Given the description of an element on the screen output the (x, y) to click on. 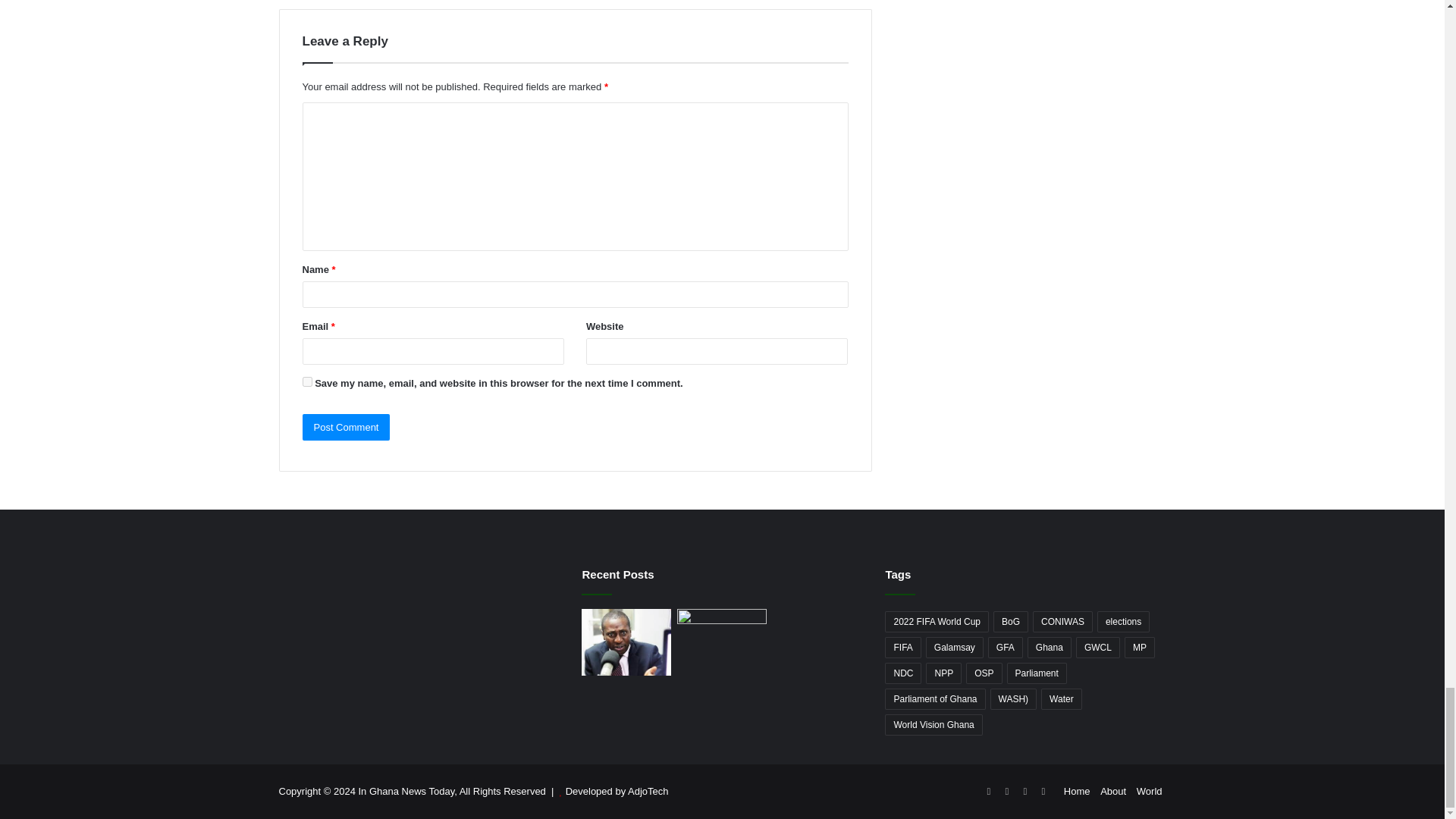
Post Comment (345, 427)
yes (306, 381)
